Given the description of an element on the screen output the (x, y) to click on. 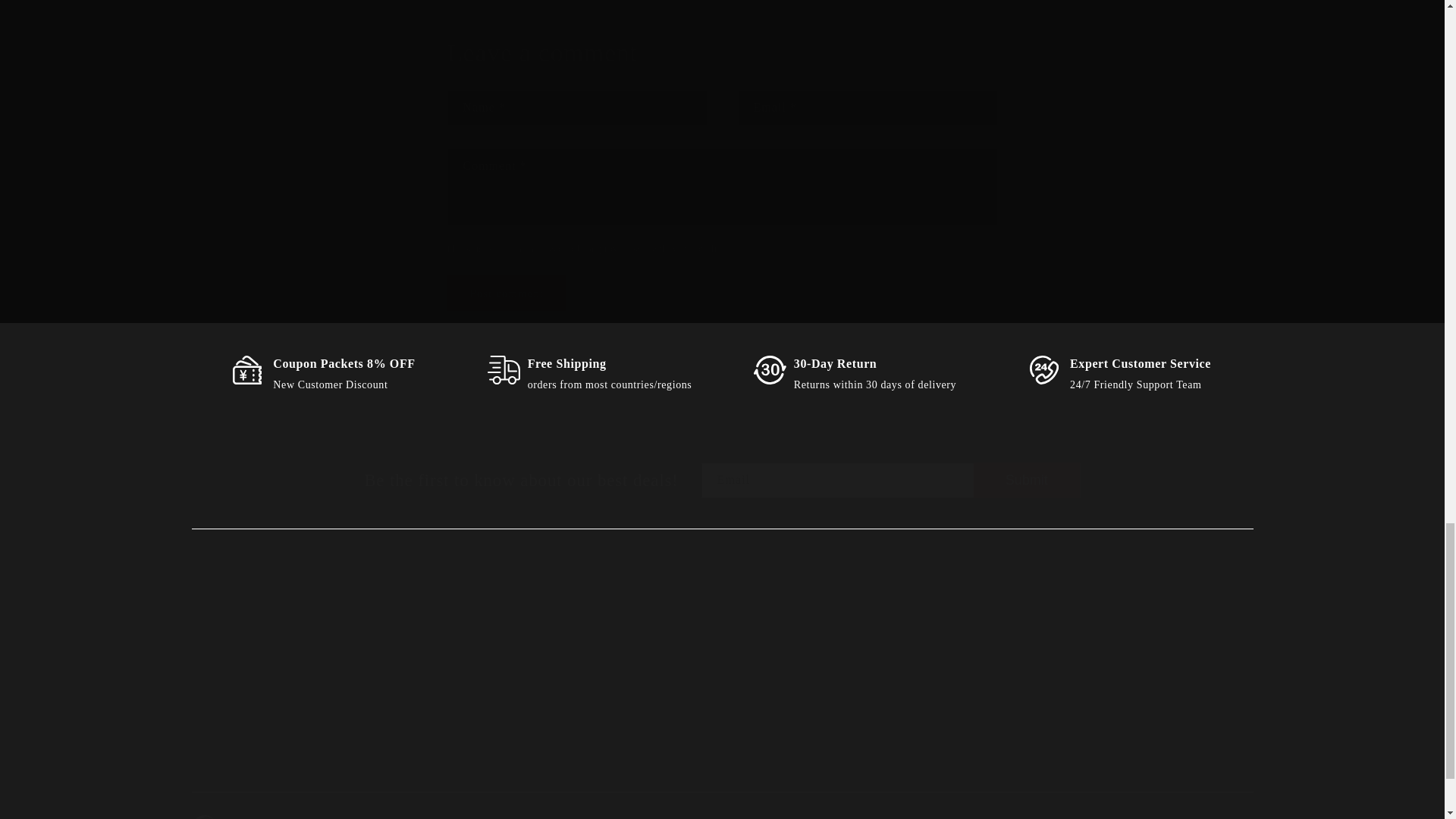
Our Story (506, 671)
All Products Tutorials (595, 683)
Submit (280, 671)
Post comment (1027, 479)
Post comment (506, 293)
Carees (848, 683)
Contact Us (506, 293)
About us (499, 697)
